Given the description of an element on the screen output the (x, y) to click on. 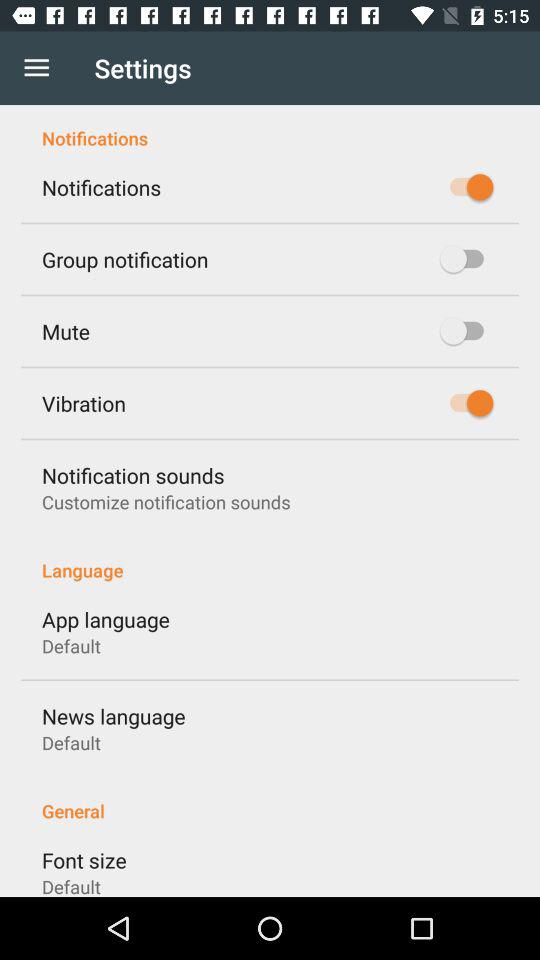
press font size item (84, 860)
